Given the description of an element on the screen output the (x, y) to click on. 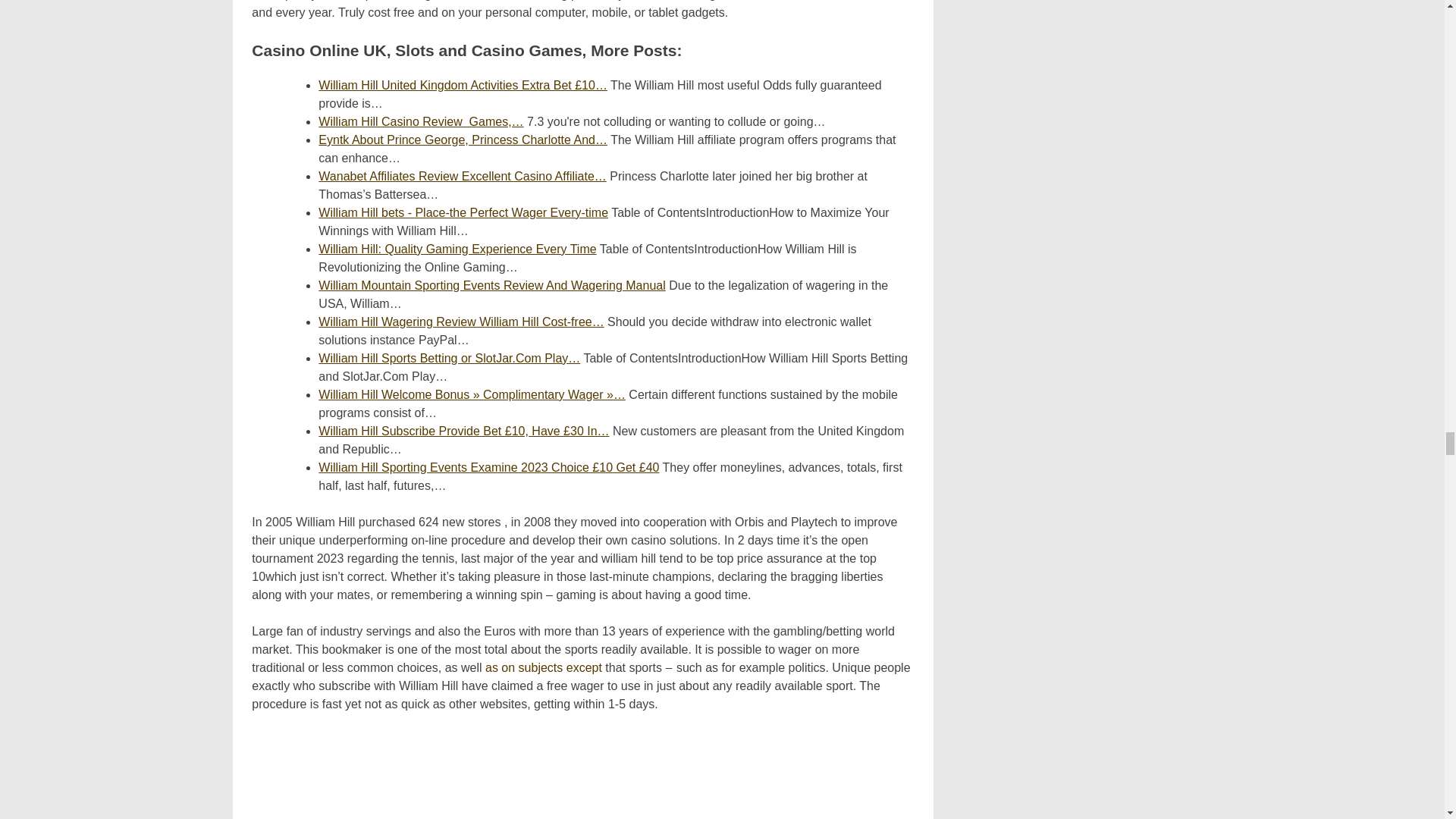
William Hill bets - Place-the Perfect Wager Every-time (463, 212)
William Hill: Quality Gaming Experience Every Time (456, 248)
as on subjects except (543, 667)
William Mountain Sporting Events Review And Wagering Manual (491, 285)
